Given the description of an element on the screen output the (x, y) to click on. 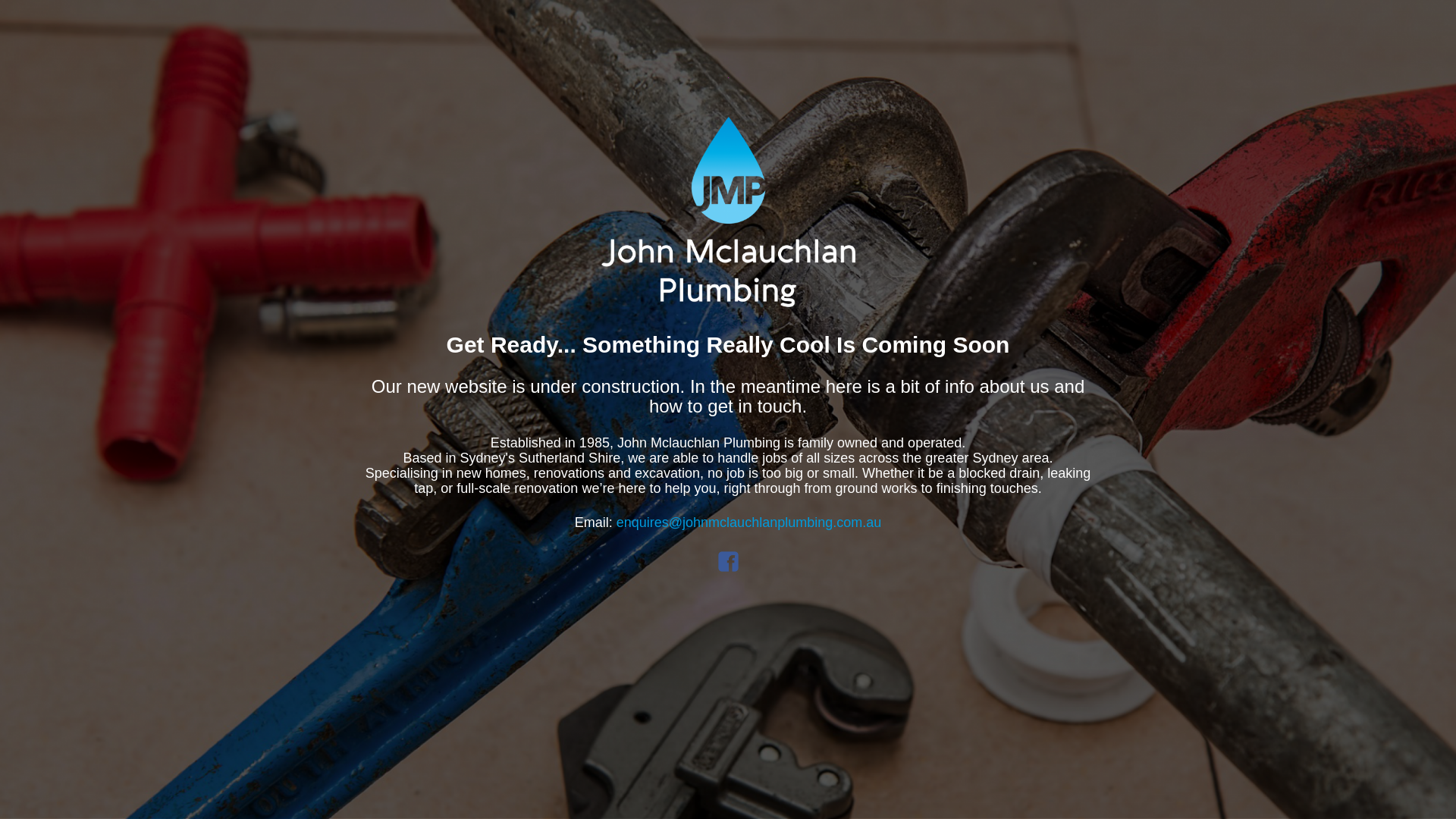
enquires@johnmclauchlanplumbing.com.au Element type: text (748, 522)
